Given the description of an element on the screen output the (x, y) to click on. 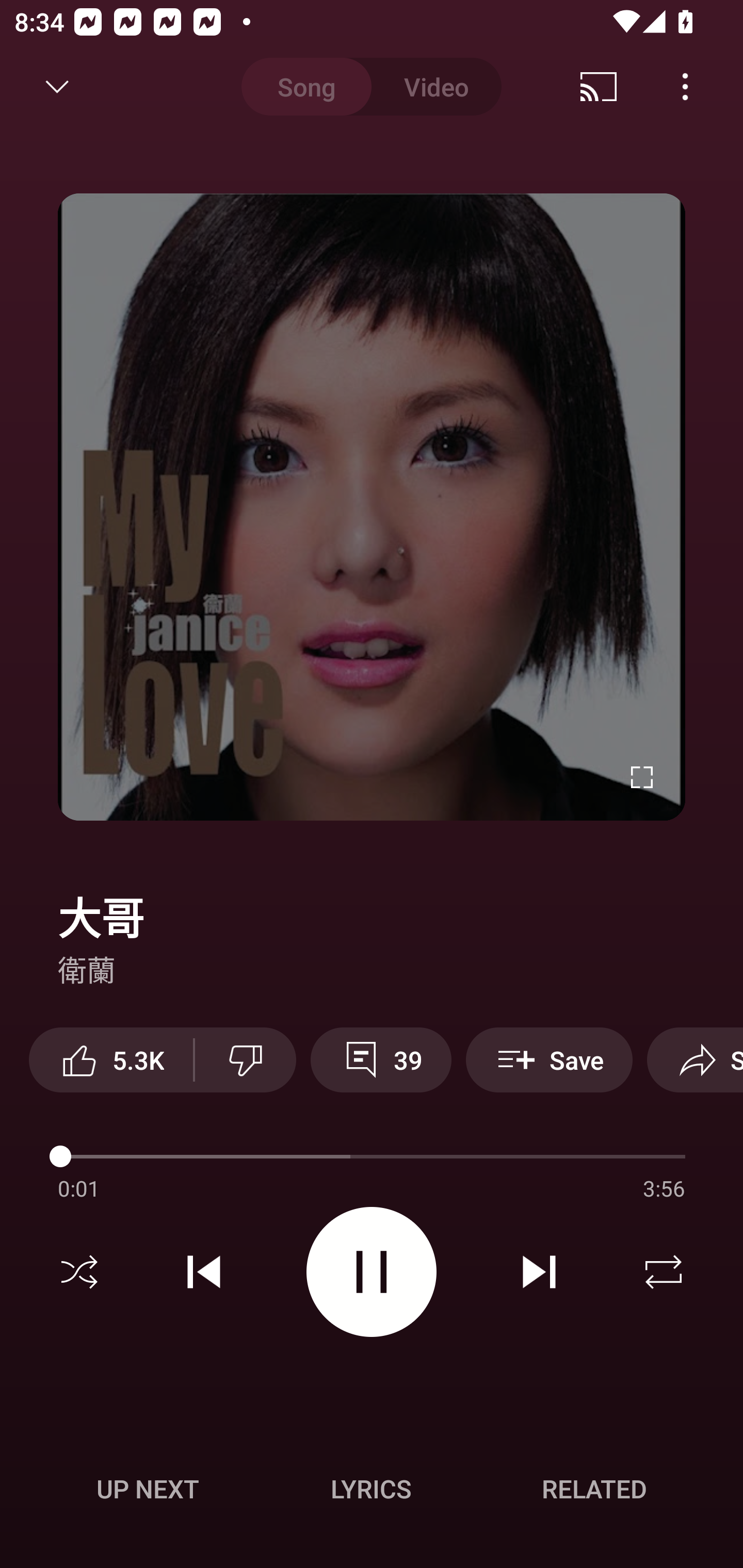
Minimize (57, 86)
Cast. Disconnected (598, 86)
Menu (684, 86)
Enter fullscreen (641, 776)
Menu (690, 1052)
5.3K like this video along with 5,304 other people (110, 1059)
Dislike (245, 1059)
39 View 39 comments (380, 1059)
Save Save to playlist (548, 1059)
Pause video (371, 1272)
Shuffle off (79, 1272)
Previous track (203, 1272)
Next track (538, 1272)
Repeat off (663, 1272)
Up next UP NEXT Lyrics LYRICS Related RELATED (371, 1491)
Lyrics LYRICS (370, 1488)
Related RELATED (594, 1488)
